Given the description of an element on the screen output the (x, y) to click on. 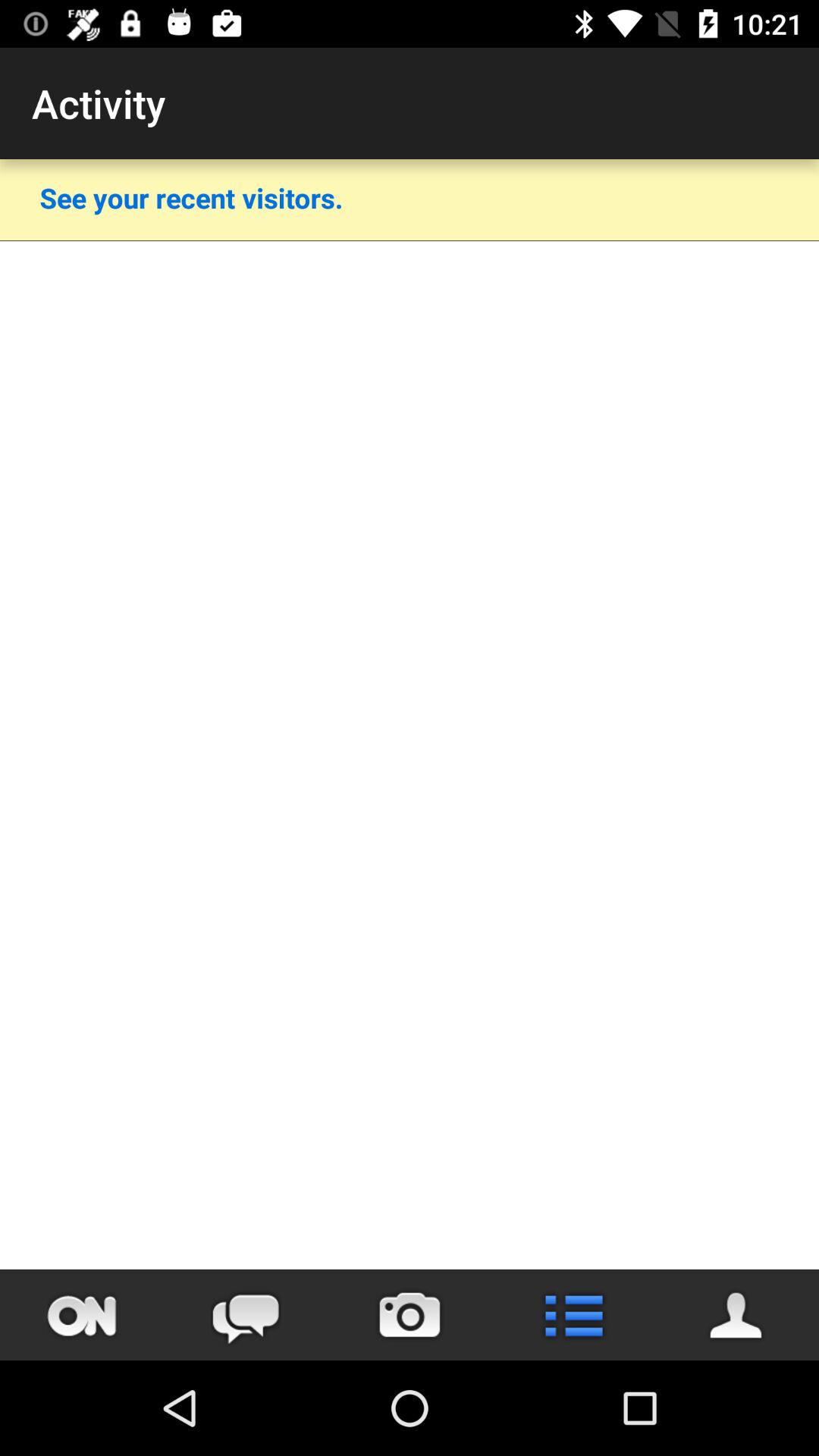
go to newsfeed (573, 1315)
